Given the description of an element on the screen output the (x, y) to click on. 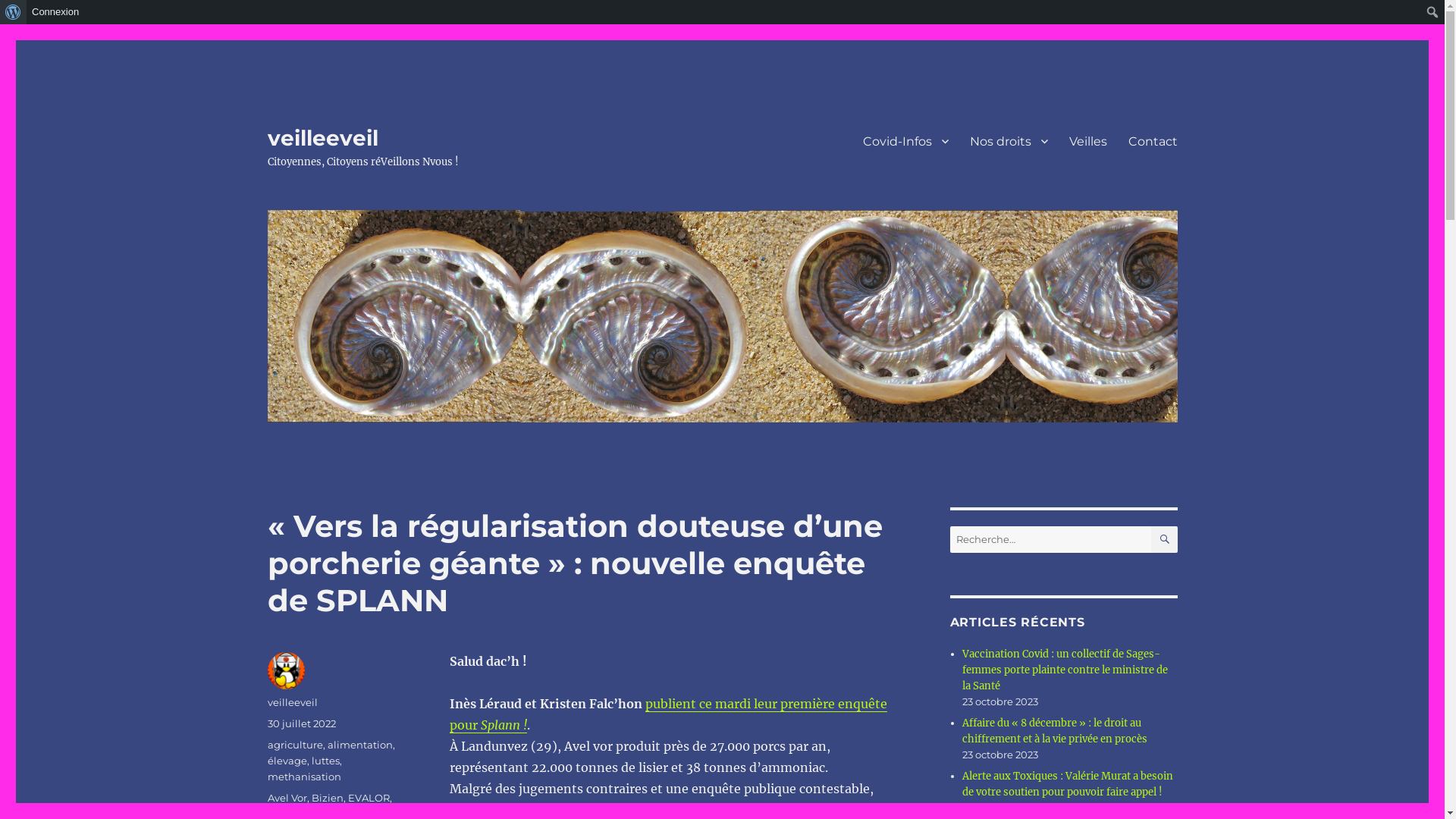
EVALOR Element type: text (368, 797)
RECHERCHE Element type: text (1164, 539)
veilleeveil Element type: text (321, 137)
veilleeveil Element type: text (291, 702)
30 juillet 2022 Element type: text (300, 723)
Connexion Element type: text (55, 12)
agriculture Element type: text (294, 744)
luttes Element type: text (324, 760)
Contact Element type: text (1152, 140)
Avel Vor Element type: text (286, 797)
Nos droits Element type: text (1007, 140)
methanisation Element type: text (303, 776)
alimentation Element type: text (359, 744)
Veilles Element type: text (1087, 140)
Bizien Element type: text (326, 797)
Covid-Infos Element type: text (905, 140)
Rechercher Element type: text (11, 12)
